Given the description of an element on the screen output the (x, y) to click on. 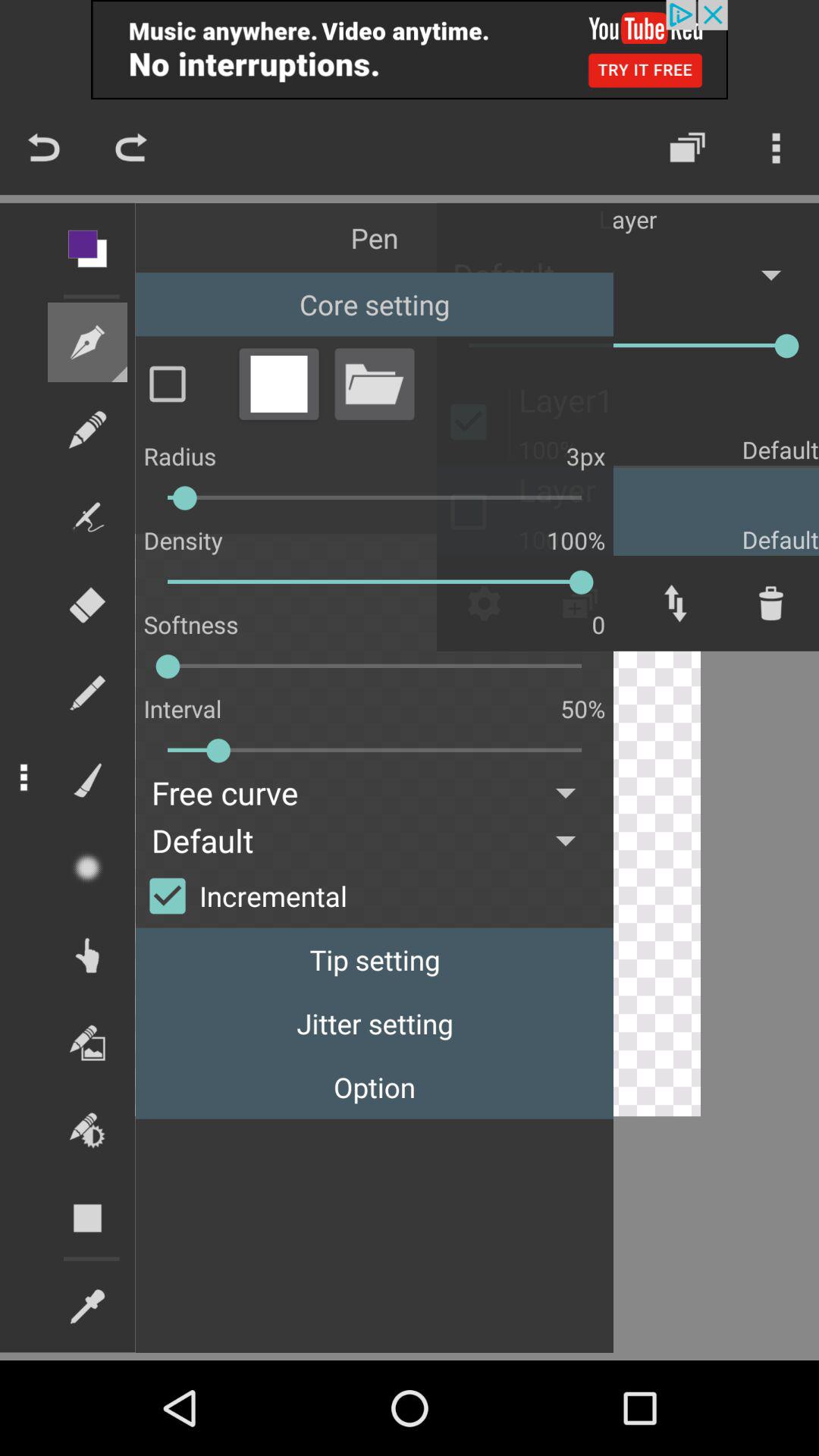
change a color (278, 383)
